Given the description of an element on the screen output the (x, y) to click on. 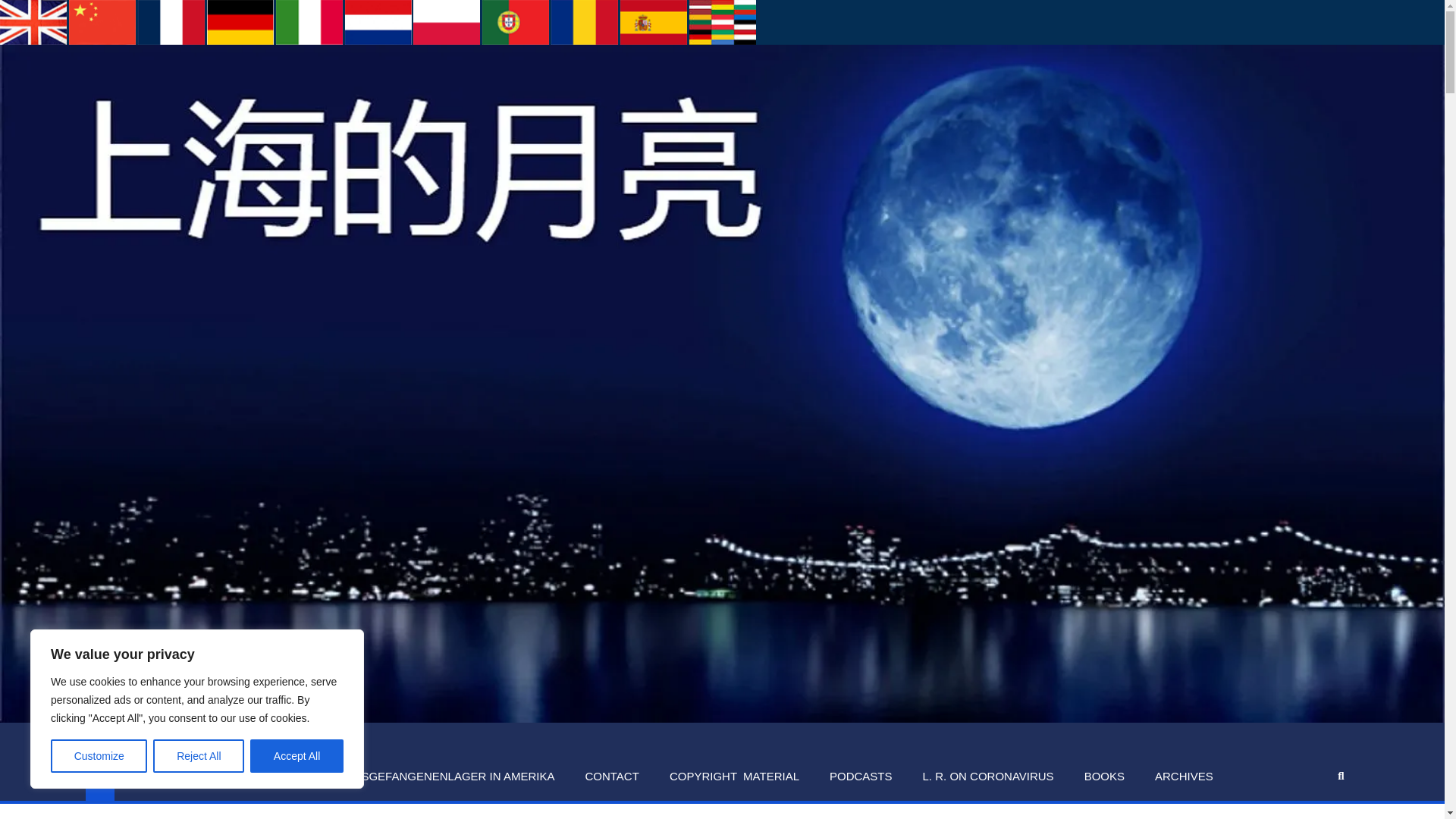
PODCASTS (860, 776)
L. R. FEATURED CONTENT (223, 776)
CONTACT (611, 776)
Customize (98, 756)
ARCHIVES (1184, 776)
COPYRIGHT  MATERIAL (733, 776)
Accept All (296, 756)
BOOKS (1104, 776)
KRIEGSGEFANGENENLAGER IN AMERIKA (440, 776)
L. R. ON CORONAVIRUS (987, 776)
Reject All (198, 756)
